Given the description of an element on the screen output the (x, y) to click on. 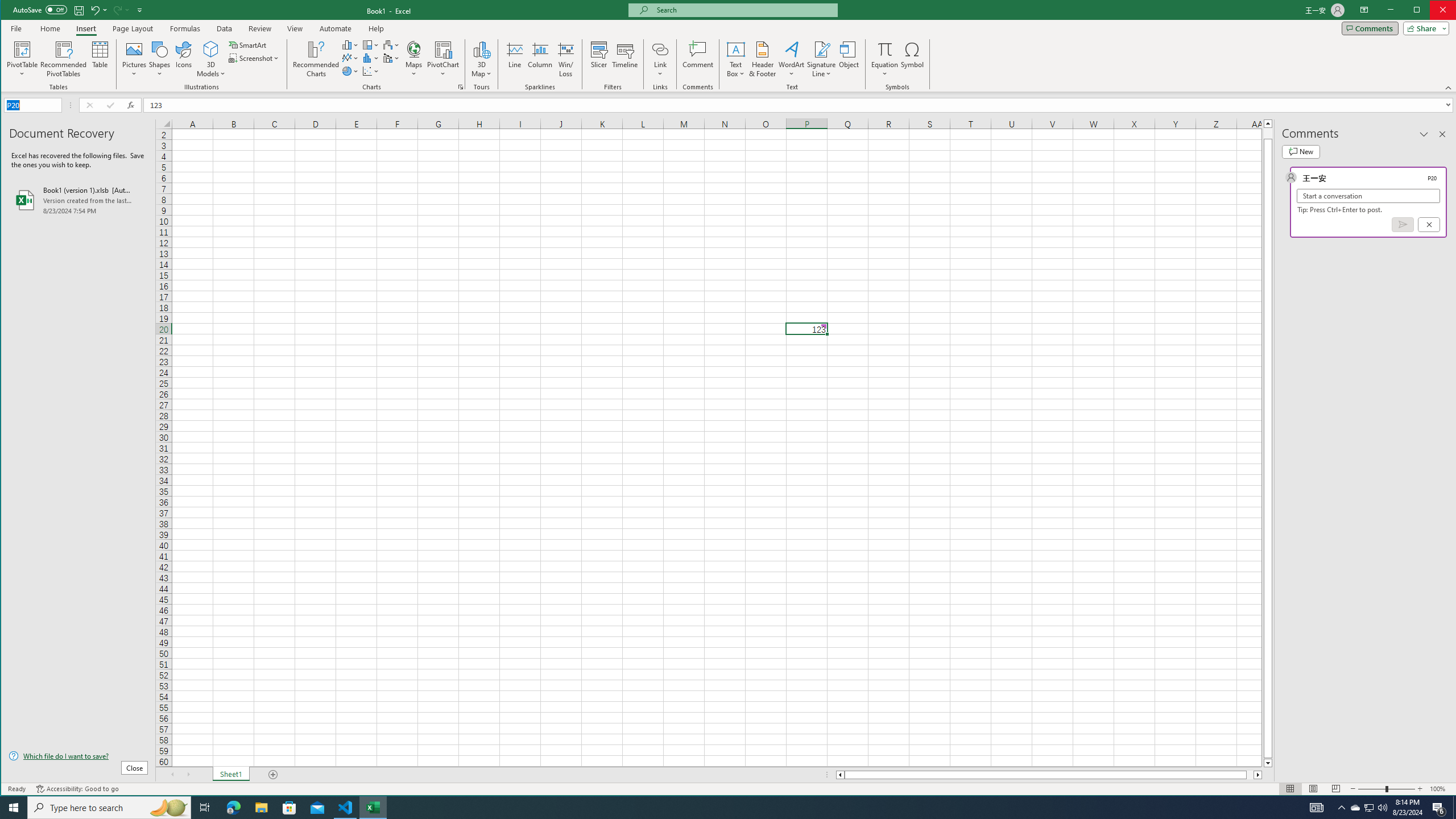
Comment (697, 59)
Show desktop (1454, 807)
Book1 (version 1).xlsb  [AutoRecovered] (78, 199)
WordArt (791, 59)
Signature Line (821, 59)
Link (659, 59)
Maps (413, 59)
Type here to search (108, 807)
Action Center, 6 new notifications (1439, 807)
